Given the description of an element on the screen output the (x, y) to click on. 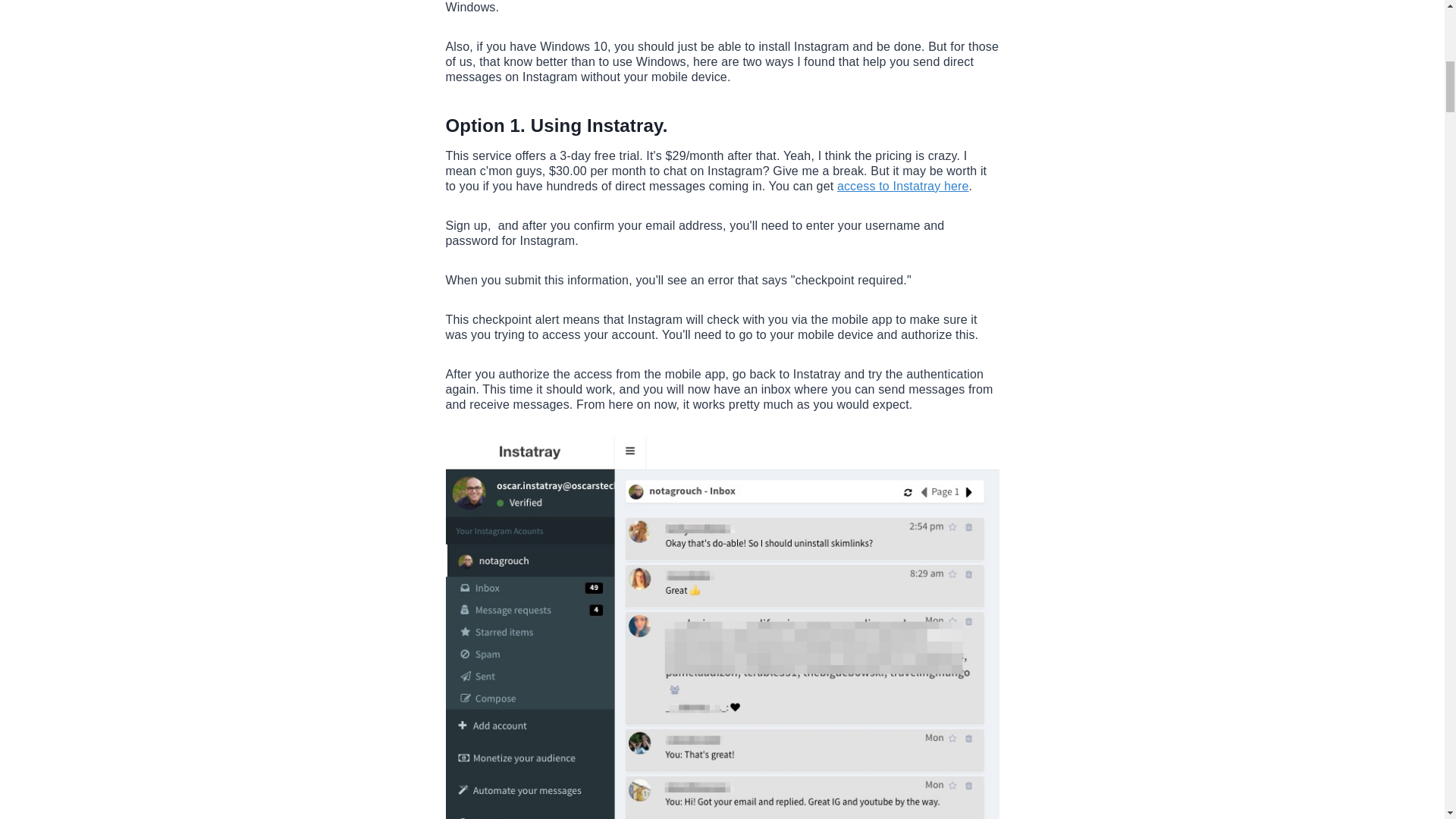
access to Instatray here (903, 185)
